Given the description of an element on the screen output the (x, y) to click on. 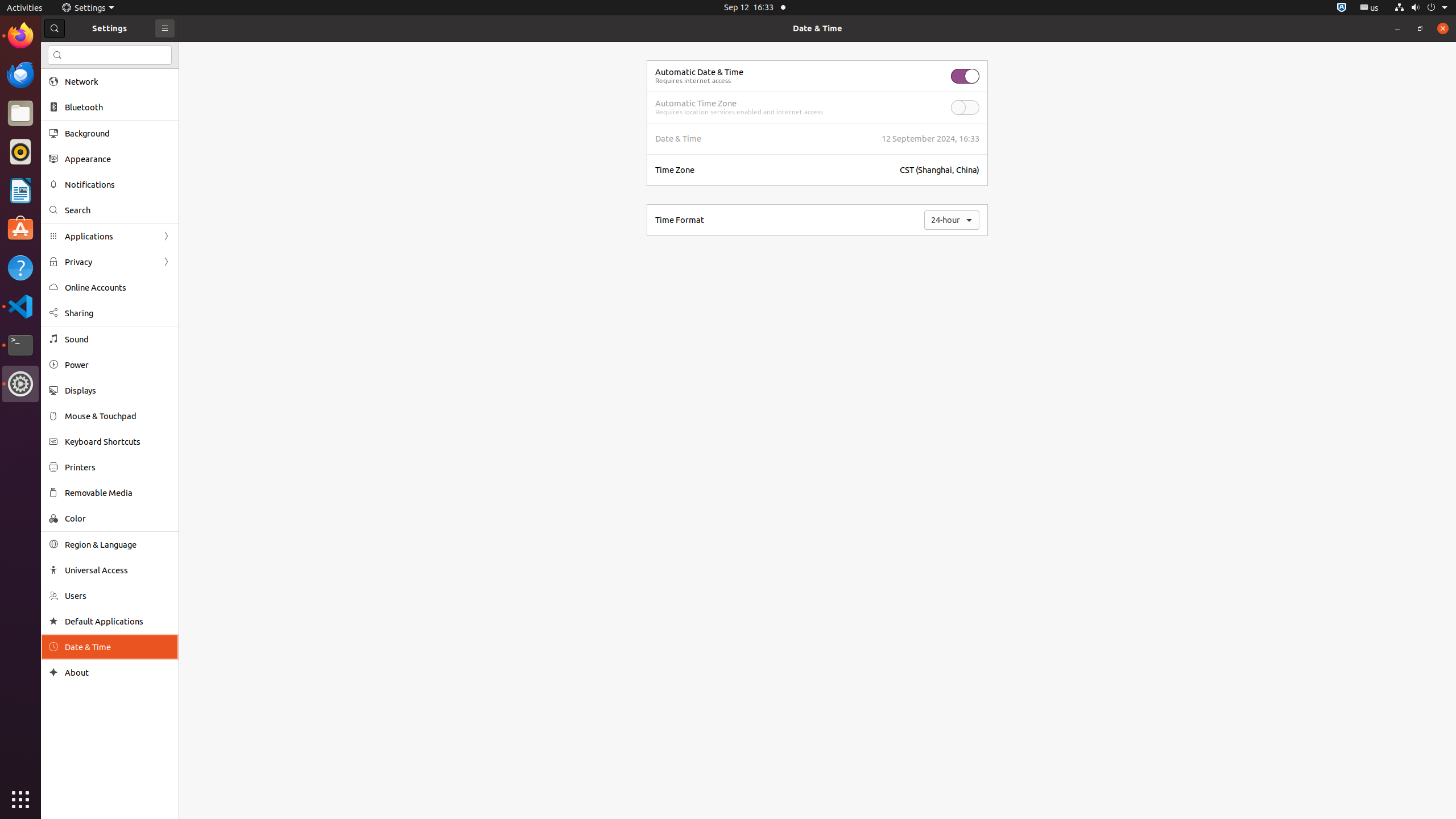
Requires internet access Element type: label (692, 80)
Activities Element type: label (24, 7)
Sound Element type: label (117, 339)
Automatic Time Zone Element type: label (695, 103)
Universal Access Element type: label (117, 570)
